Given the description of an element on the screen output the (x, y) to click on. 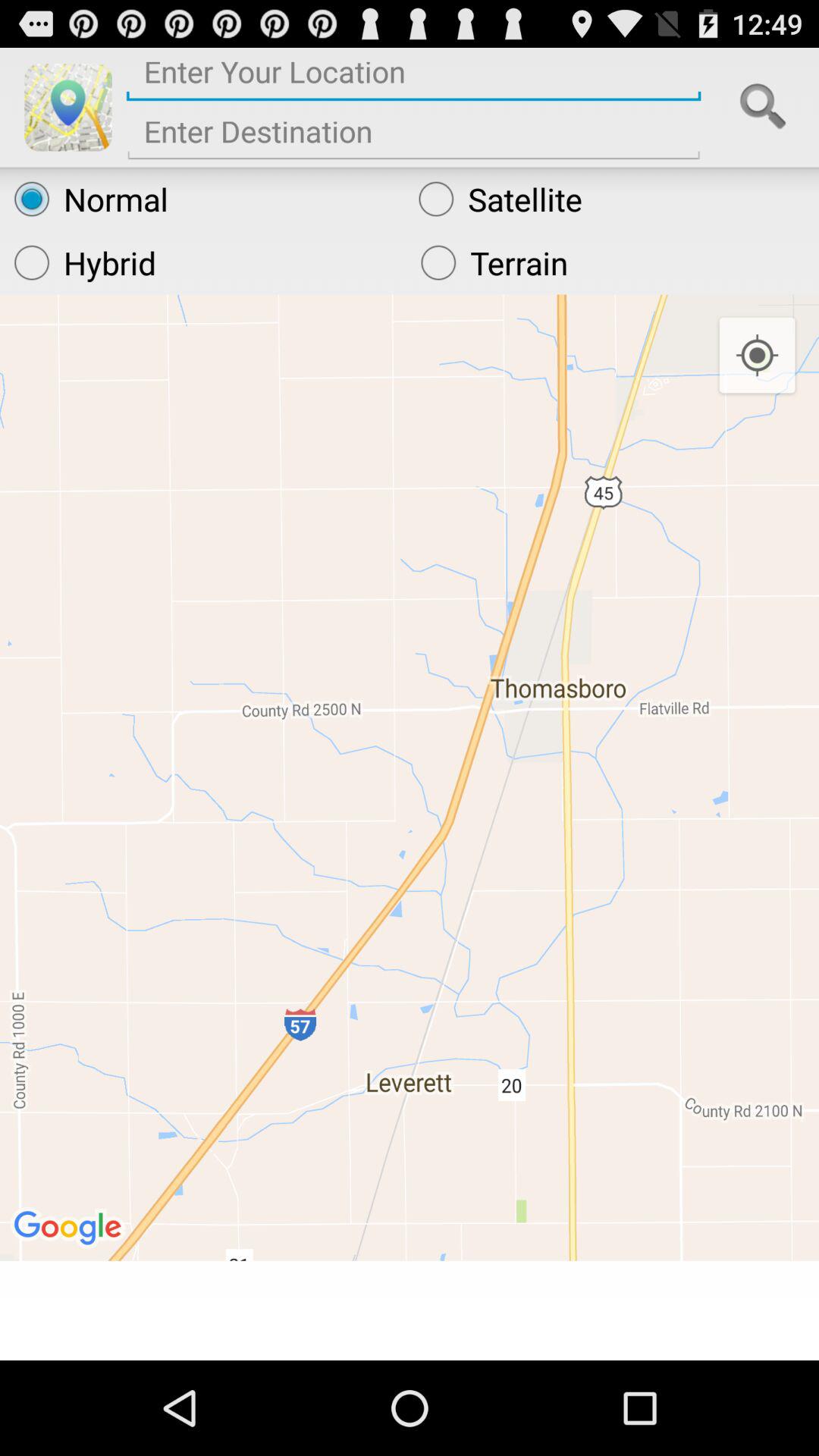
input box (413, 137)
